Given the description of an element on the screen output the (x, y) to click on. 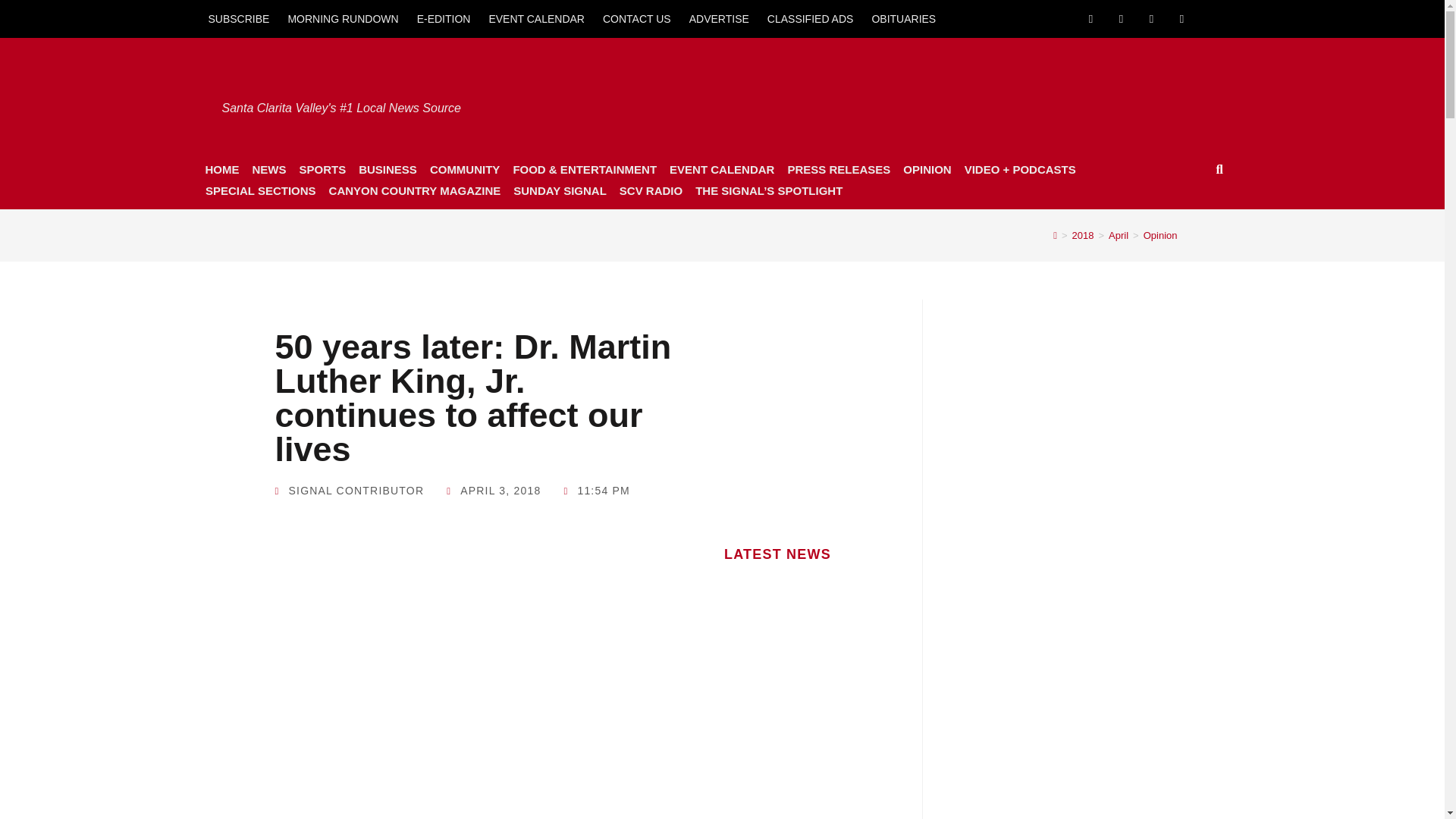
CLASSIFIED ADS (810, 18)
ADVERTISE (718, 18)
CONTACT US (636, 18)
E-EDITION (443, 18)
SUBSCRIBE (238, 18)
HOME (221, 169)
OBITUARIES (902, 18)
MORNING RUNDOWN (342, 18)
NEWS (269, 169)
EVENT CALENDAR (536, 18)
